Given the description of an element on the screen output the (x, y) to click on. 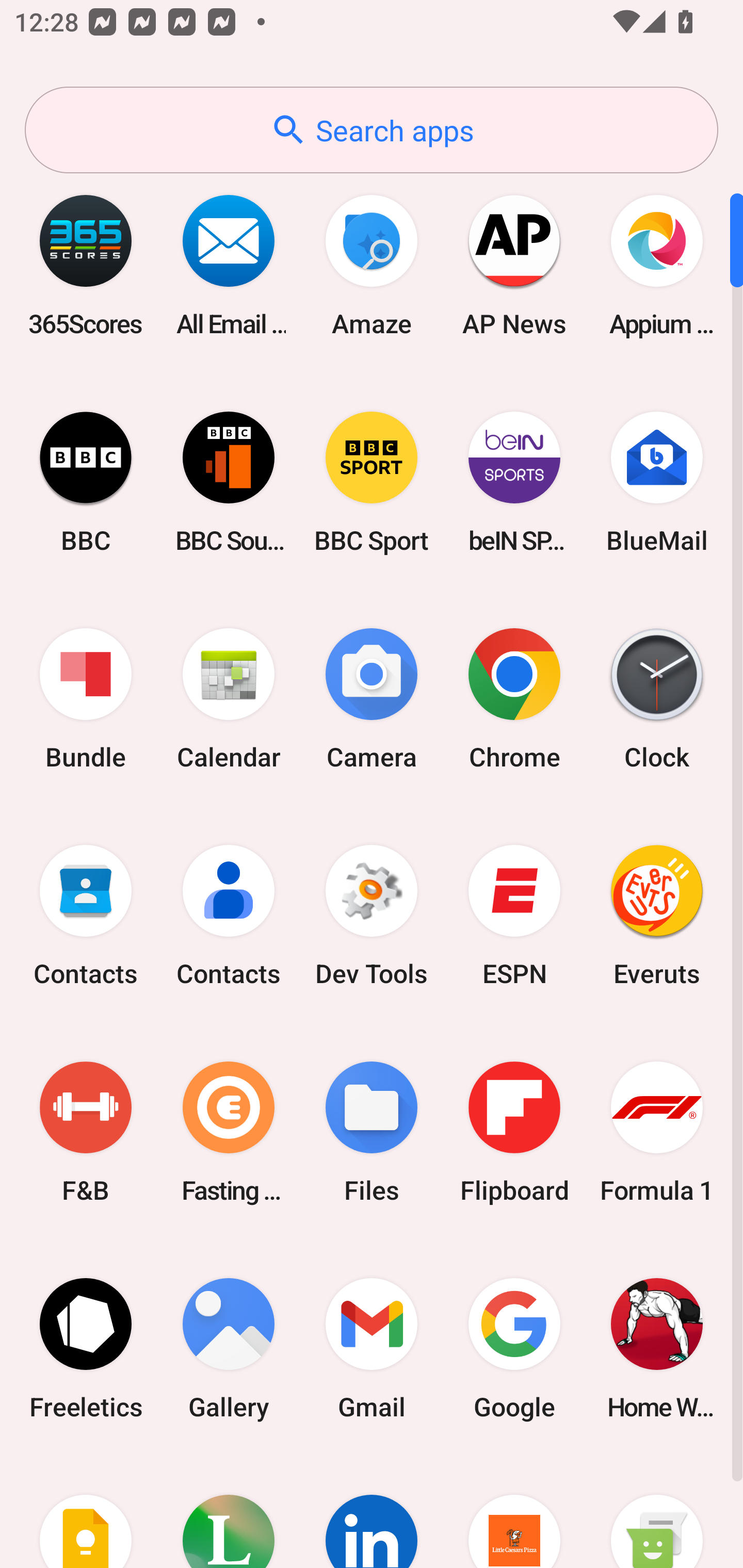
  Search apps (371, 130)
365Scores (85, 264)
All Email Connect (228, 264)
Amaze (371, 264)
AP News (514, 264)
Appium Settings (656, 264)
BBC (85, 482)
BBC Sounds (228, 482)
BBC Sport (371, 482)
beIN SPORTS (514, 482)
BlueMail (656, 482)
Bundle (85, 699)
Calendar (228, 699)
Camera (371, 699)
Chrome (514, 699)
Clock (656, 699)
Contacts (85, 915)
Contacts (228, 915)
Dev Tools (371, 915)
ESPN (514, 915)
Everuts (656, 915)
F&B (85, 1131)
Fasting Coach (228, 1131)
Files (371, 1131)
Flipboard (514, 1131)
Formula 1 (656, 1131)
Freeletics (85, 1348)
Gallery (228, 1348)
Gmail (371, 1348)
Google (514, 1348)
Home Workout (656, 1348)
Keep Notes (85, 1512)
Lifesum (228, 1512)
LinkedIn (371, 1512)
Little Caesars Pizza (514, 1512)
Messaging (656, 1512)
